Given the description of an element on the screen output the (x, y) to click on. 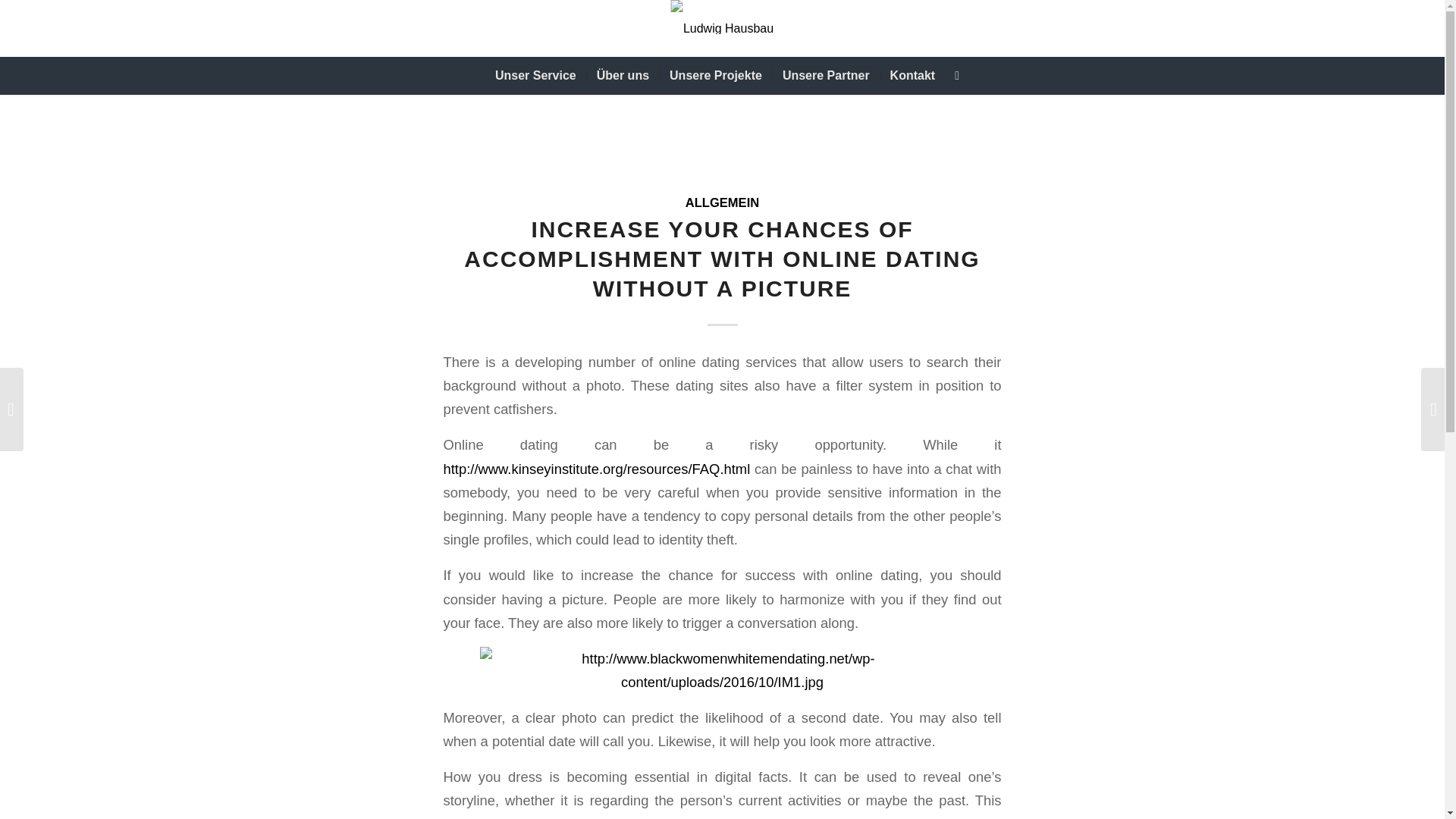
Unsere Projekte (715, 75)
ALLGEMEIN (721, 202)
Unser Service (535, 75)
Unsere Partner (825, 75)
Kontakt (911, 75)
